Given the description of an element on the screen output the (x, y) to click on. 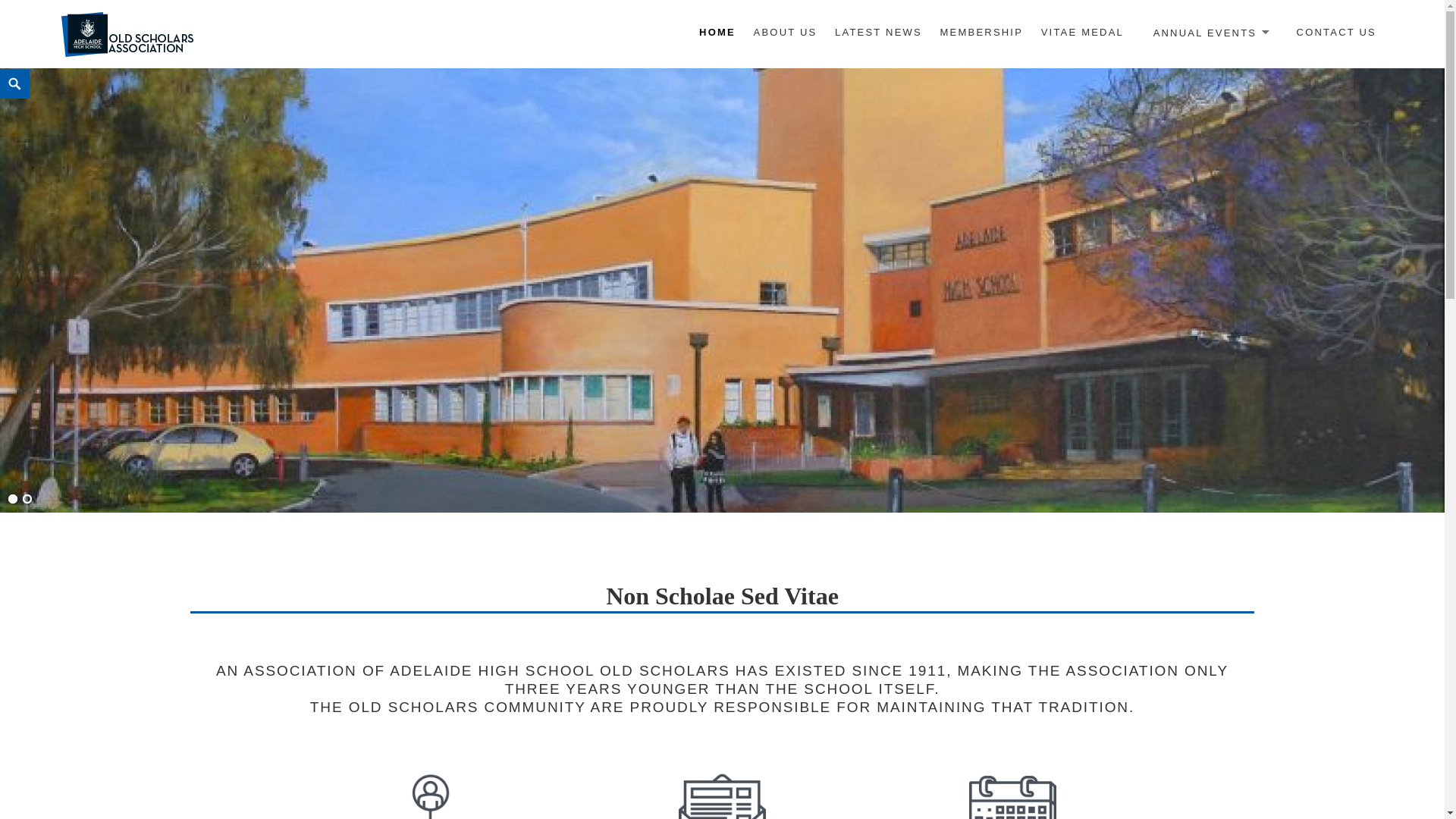
VITAE MEDAL Element type: text (1082, 33)
Search Element type: text (3, 69)
Adelaide High School Old Scholars Element type: text (231, 69)
ANNUAL EVENTS Element type: text (1210, 33)
MEMBERSHIP Element type: text (981, 33)
CONTACT US Element type: text (1336, 33)
ABOUT US Element type: text (785, 33)
HOME Element type: text (717, 33)
Skip to content Element type: text (0, 68)
LATEST NEWS Element type: text (878, 33)
